Given the description of an element on the screen output the (x, y) to click on. 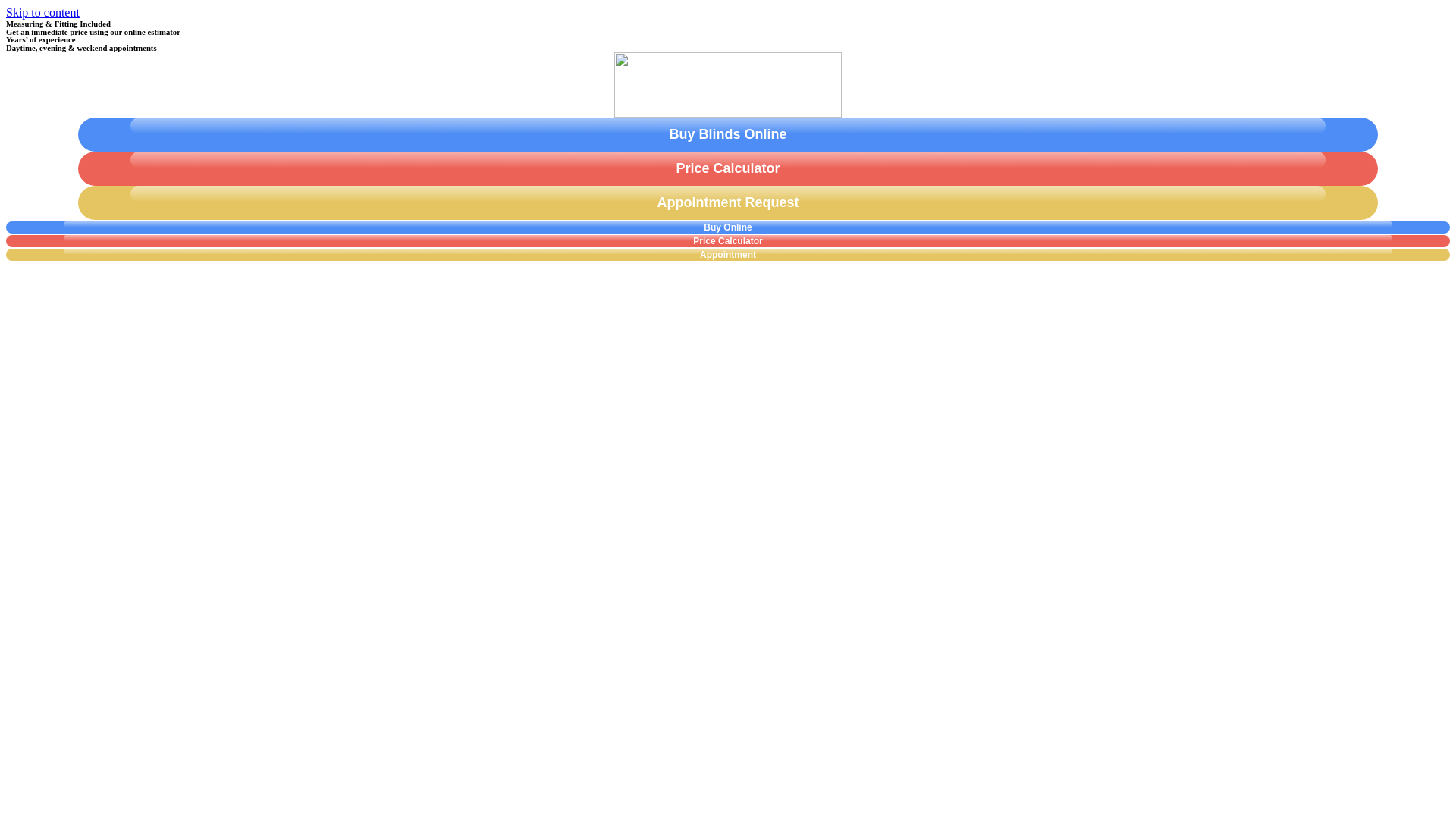
Price Calculator (727, 168)
Appointment Request (727, 202)
Skip to content (42, 11)
Buy Blinds Online (727, 134)
